Given the description of an element on the screen output the (x, y) to click on. 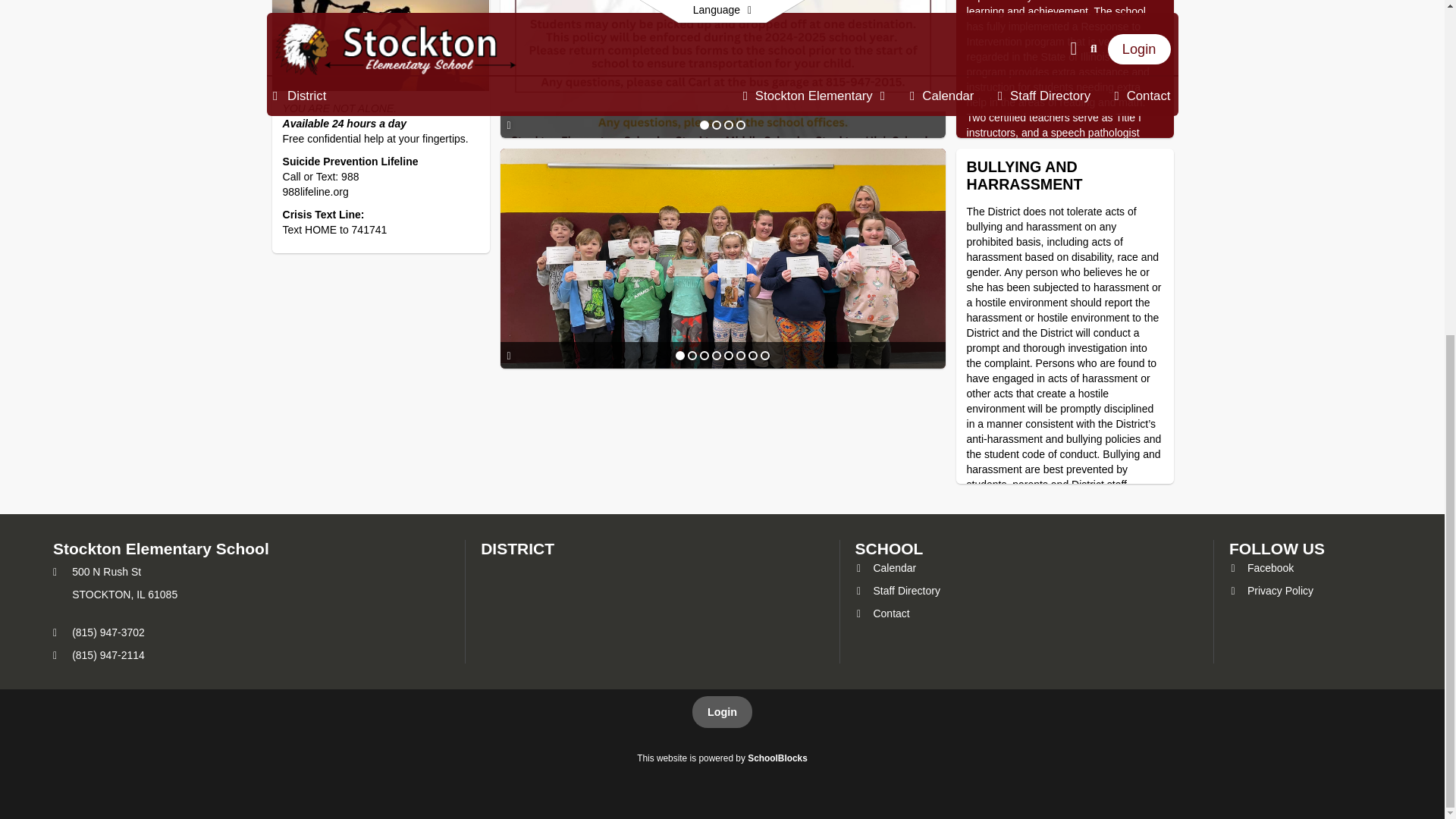
Calendar (1050, 2)
open reg. (886, 567)
little Blackhawk's (722, 69)
